Given the description of an element on the screen output the (x, y) to click on. 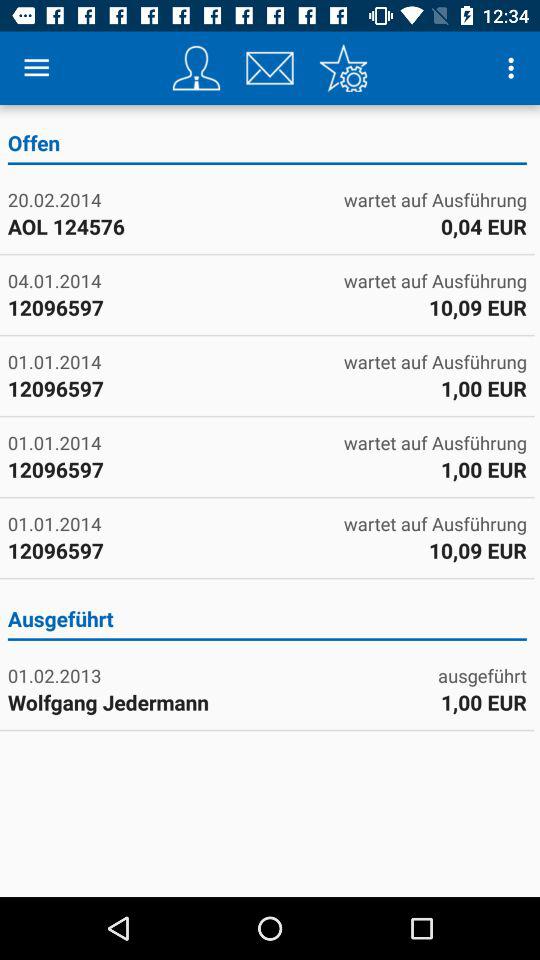
press item above the 20.02.2014 (266, 146)
